Given the description of an element on the screen output the (x, y) to click on. 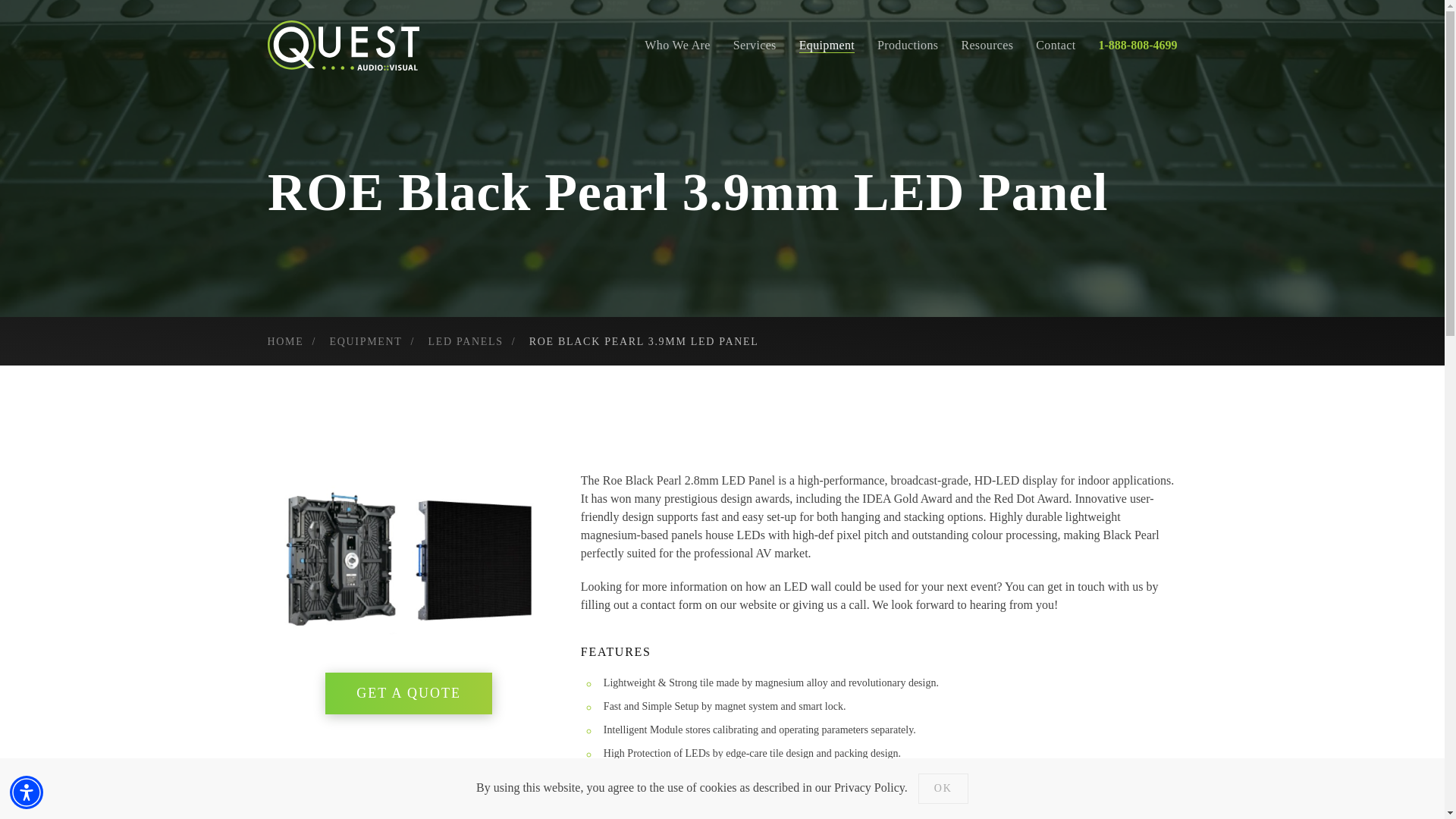
Who We Are (677, 45)
Equipment (826, 45)
Accessibility Menu (26, 792)
